Given the description of an element on the screen output the (x, y) to click on. 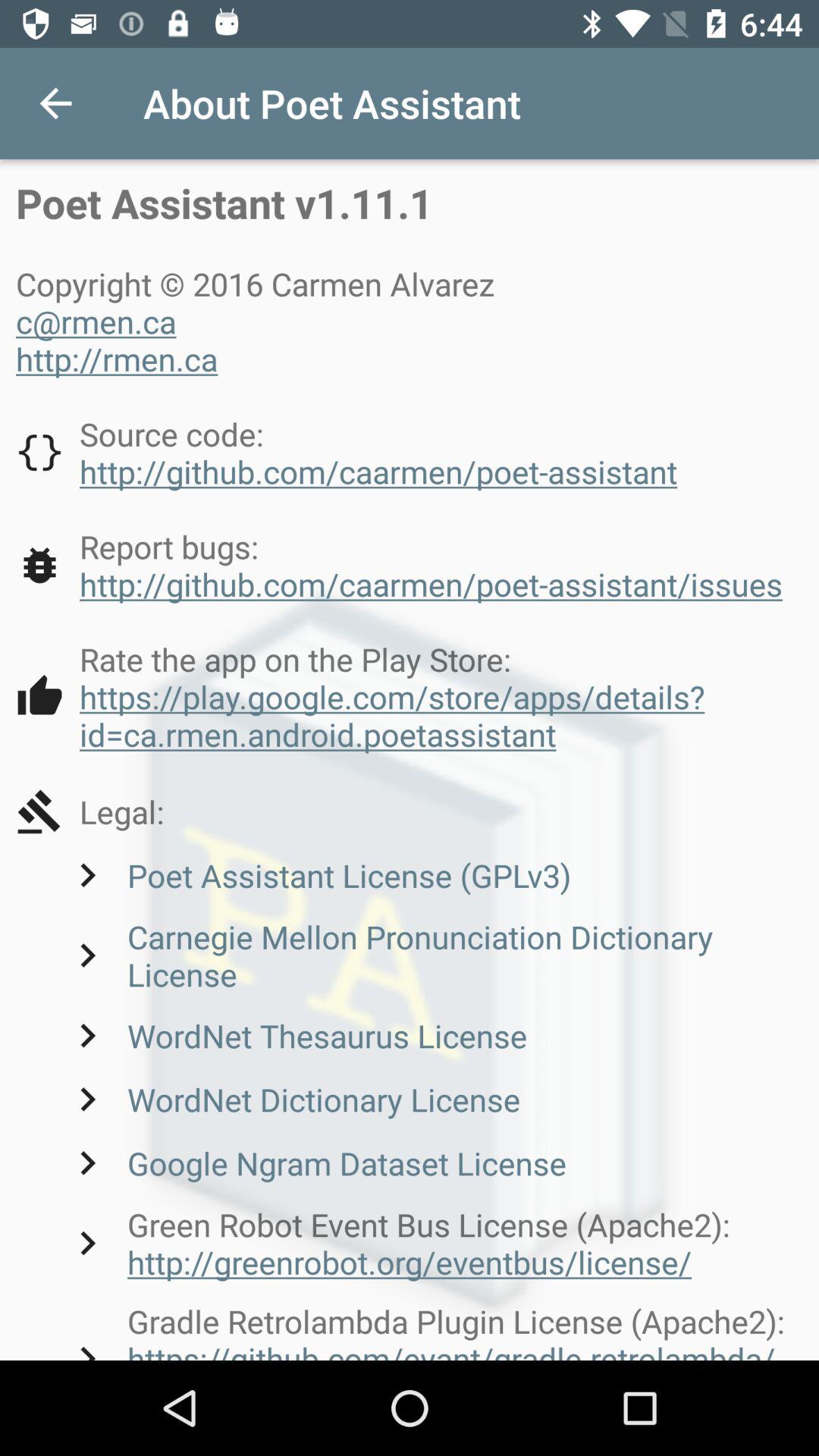
click the source code http (346, 452)
